Given the description of an element on the screen output the (x, y) to click on. 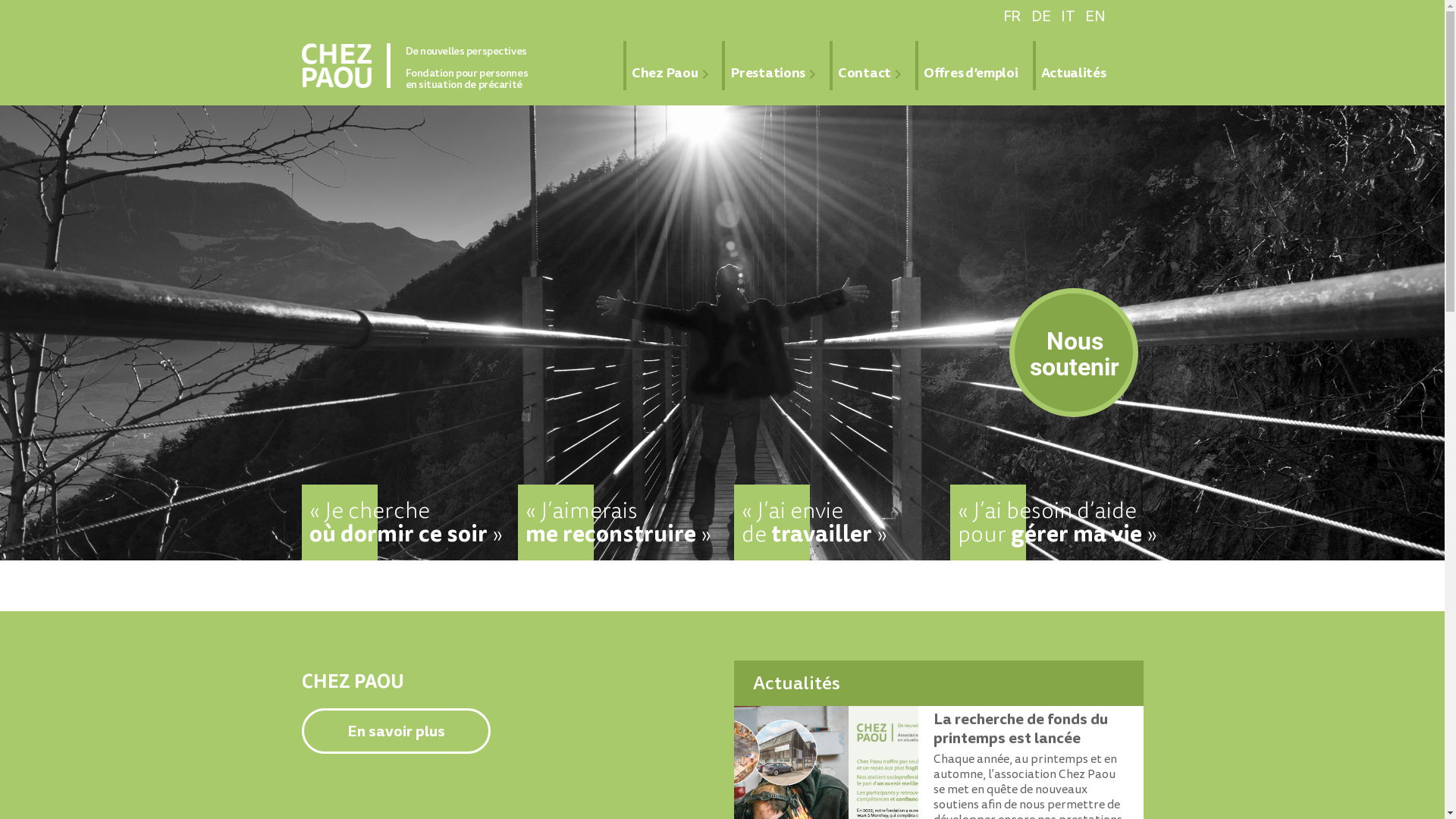
Contact Element type: text (864, 65)
EN Element type: text (1094, 16)
Prestations Element type: text (767, 65)
FR Element type: text (1011, 16)
Nous
soutenir Element type: text (1074, 353)
IT Element type: text (1067, 16)
En savoir plus Element type: text (395, 730)
DE Element type: text (1040, 16)
Chez Paou Element type: text (664, 65)
